Given the description of an element on the screen output the (x, y) to click on. 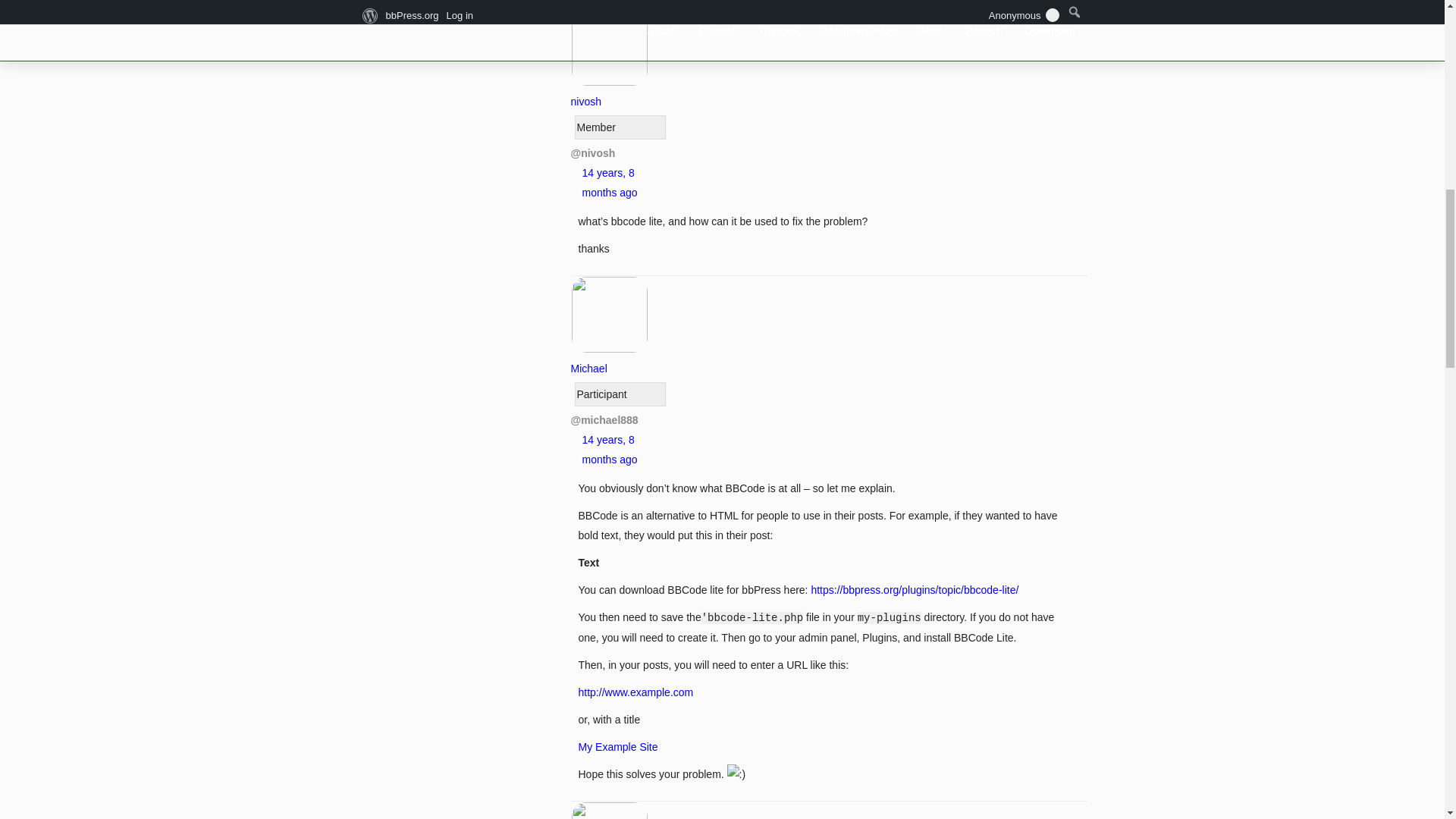
nivosh (608, 91)
14 years, 8 months ago (609, 450)
Michael (608, 358)
14 years, 8 months ago (609, 183)
My Example Site (618, 746)
